Given the description of an element on the screen output the (x, y) to click on. 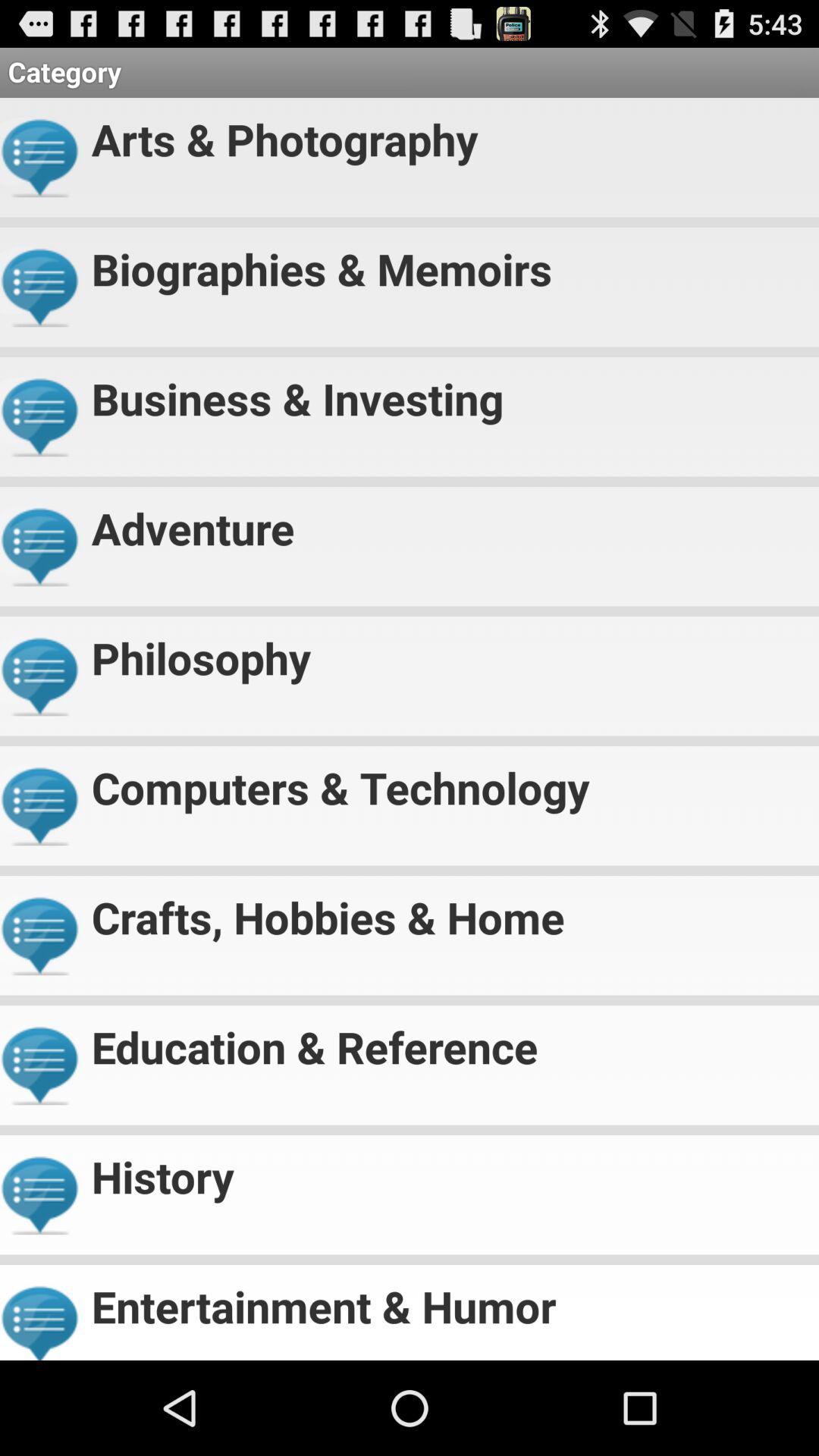
open the computers & technology icon (449, 781)
